Given the description of an element on the screen output the (x, y) to click on. 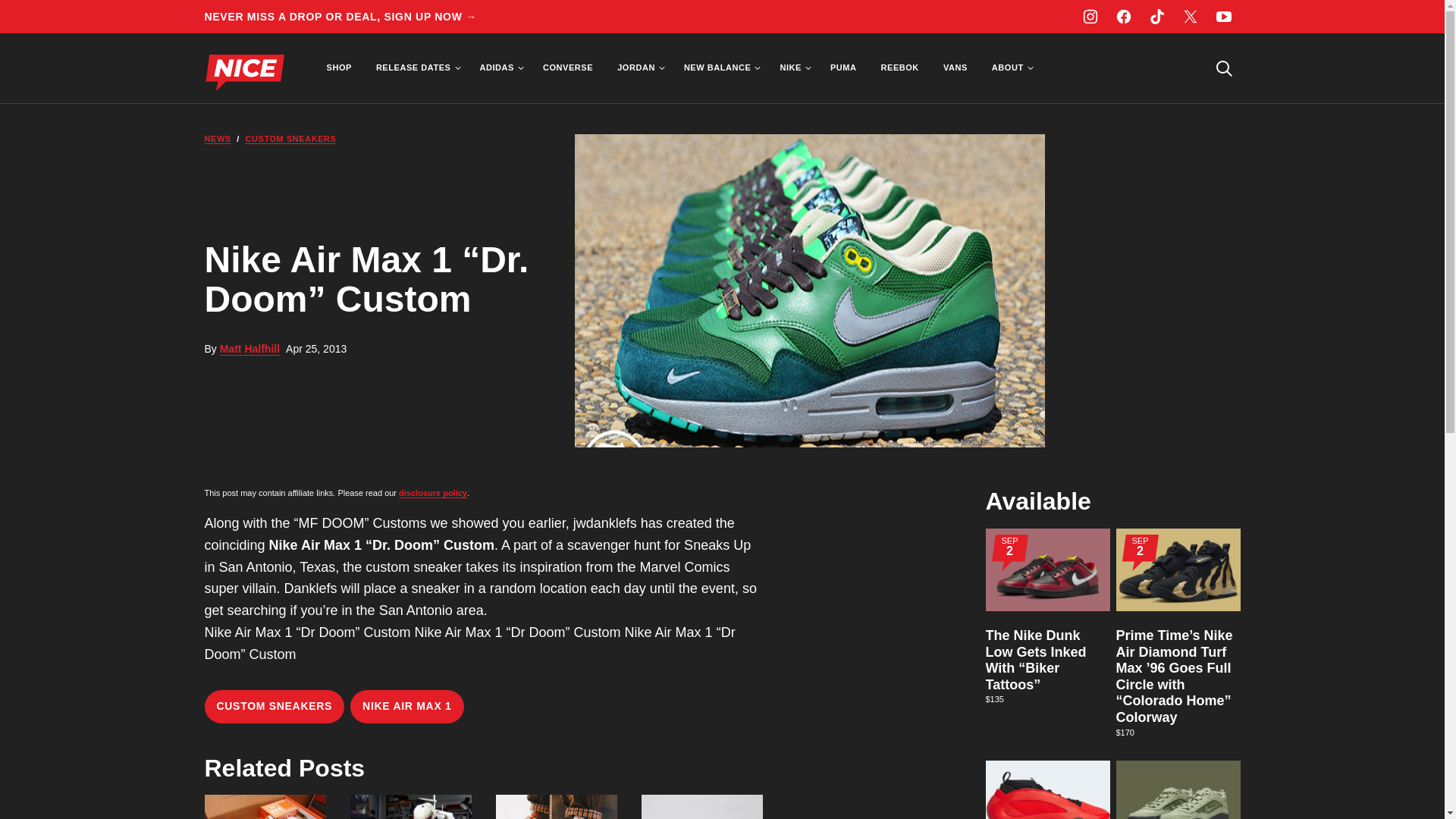
JORDAN (638, 67)
RELEASE DATES (415, 67)
ADIDAS (499, 67)
CONVERSE (568, 67)
SHOP (338, 67)
NEW BALANCE (719, 67)
